Given the description of an element on the screen output the (x, y) to click on. 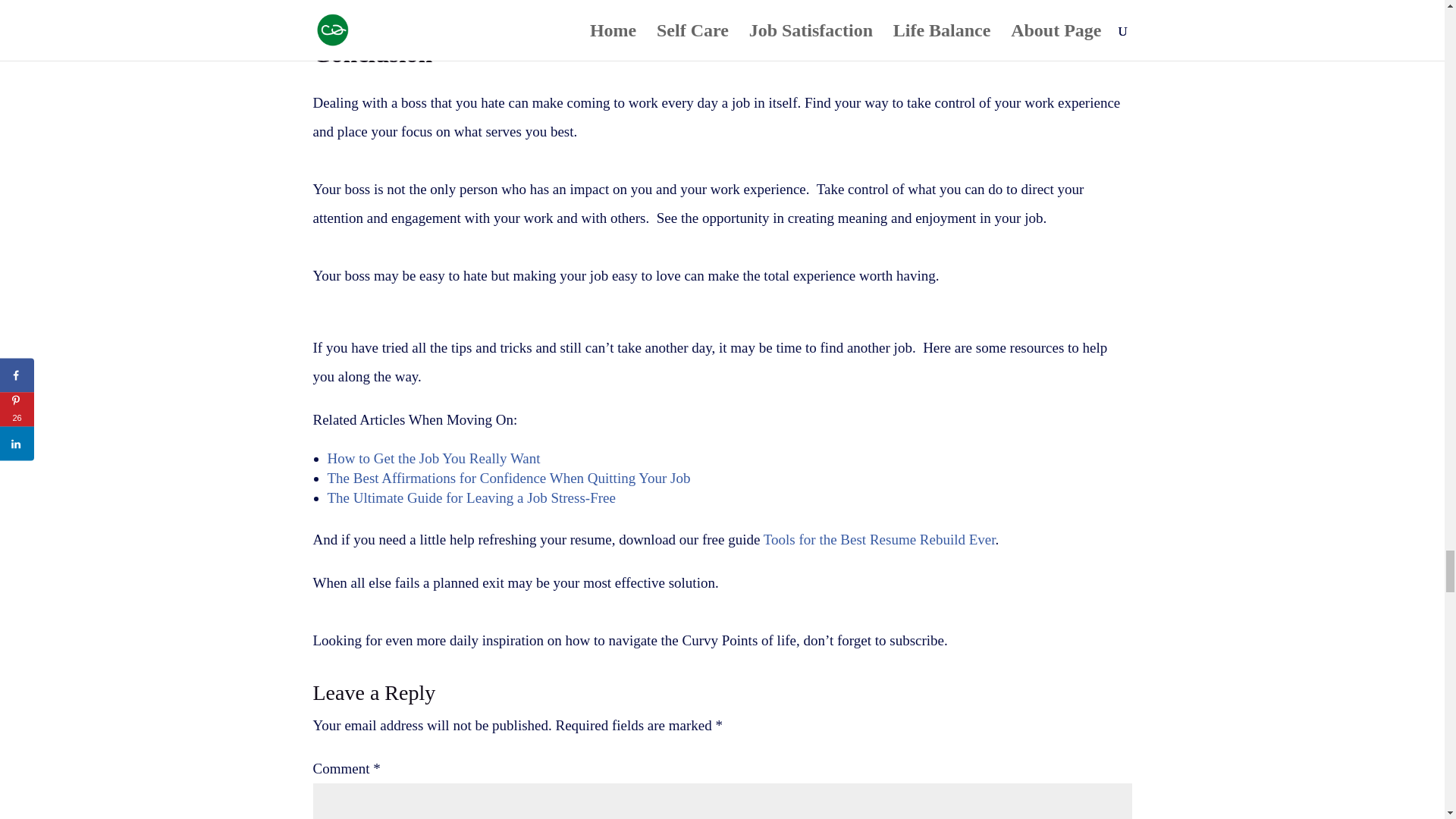
The Best Affirmations for Confidence When Quitting Your Job (508, 478)
The Ultimate Guide for Leaving a Job Stress-Free (471, 497)
How to Get the Job You Really Want (433, 458)
Tools for the Best Resume Rebuild Ever (878, 539)
